Given the description of an element on the screen output the (x, y) to click on. 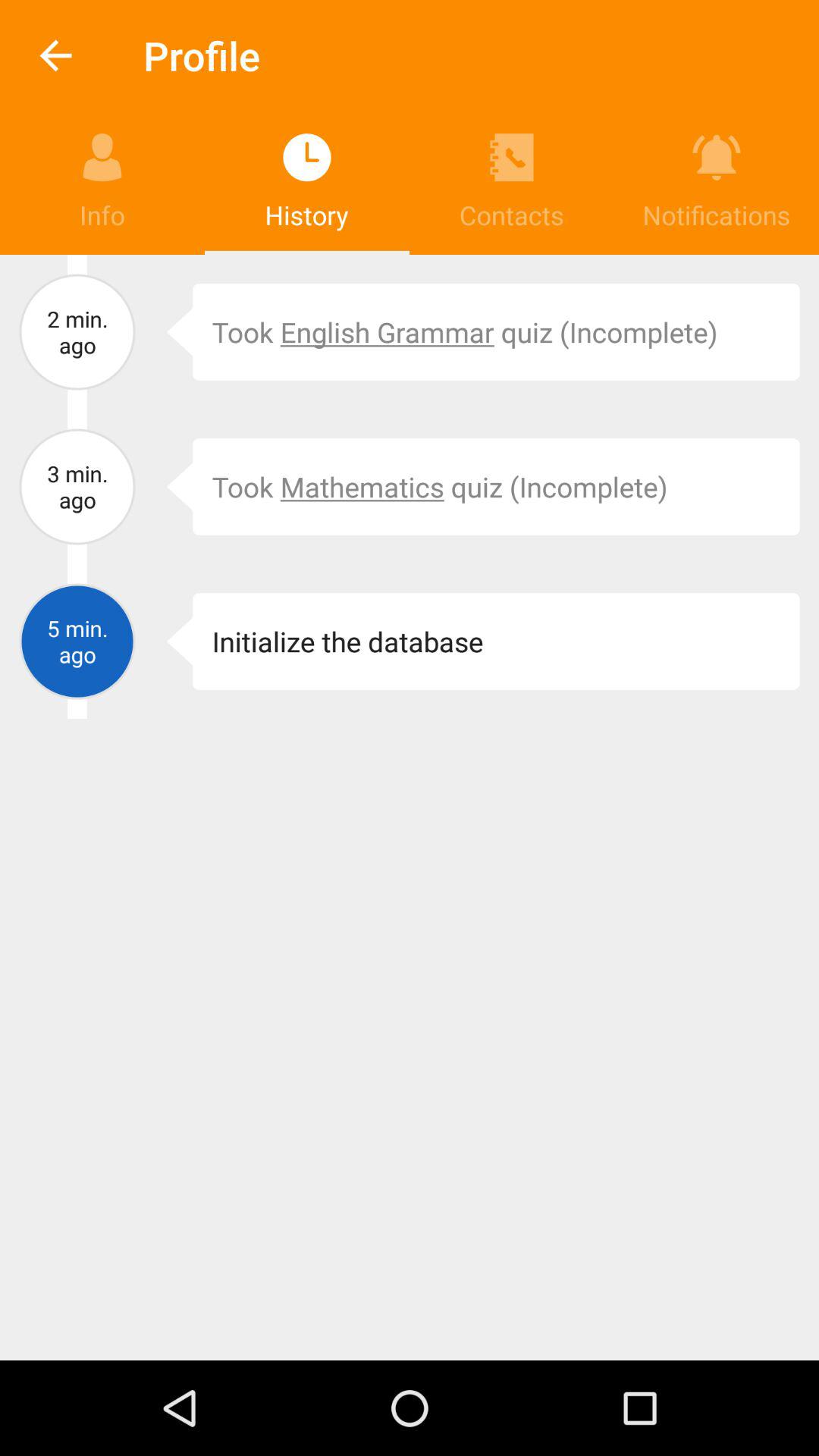
tap icon next to the initialize the database item (168, 641)
